Given the description of an element on the screen output the (x, y) to click on. 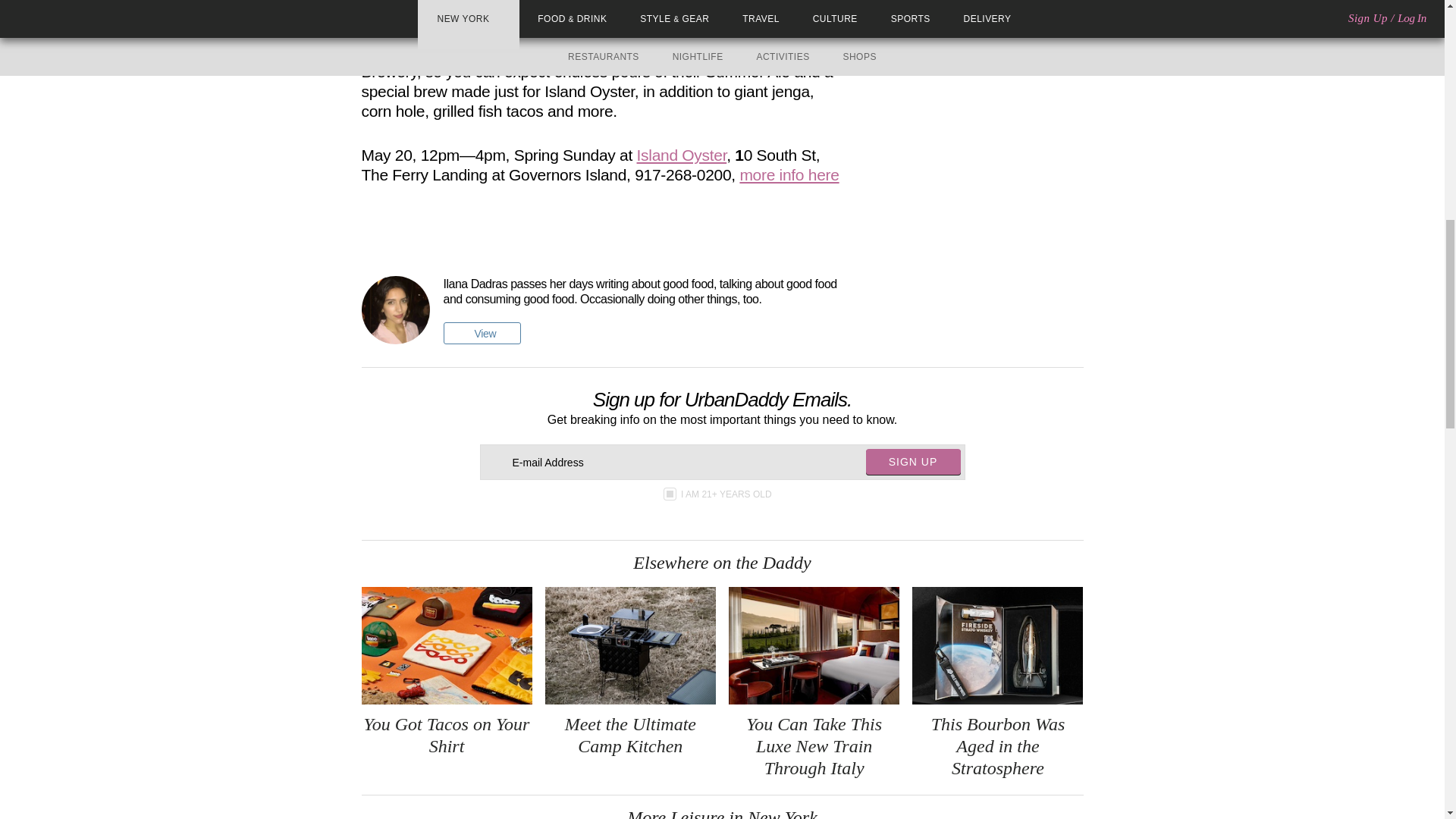
SIGN UP (913, 461)
Island Oyster (681, 154)
more info here (788, 174)
Save (437, 235)
View (480, 332)
Pinterest (414, 235)
